Given the description of an element on the screen output the (x, y) to click on. 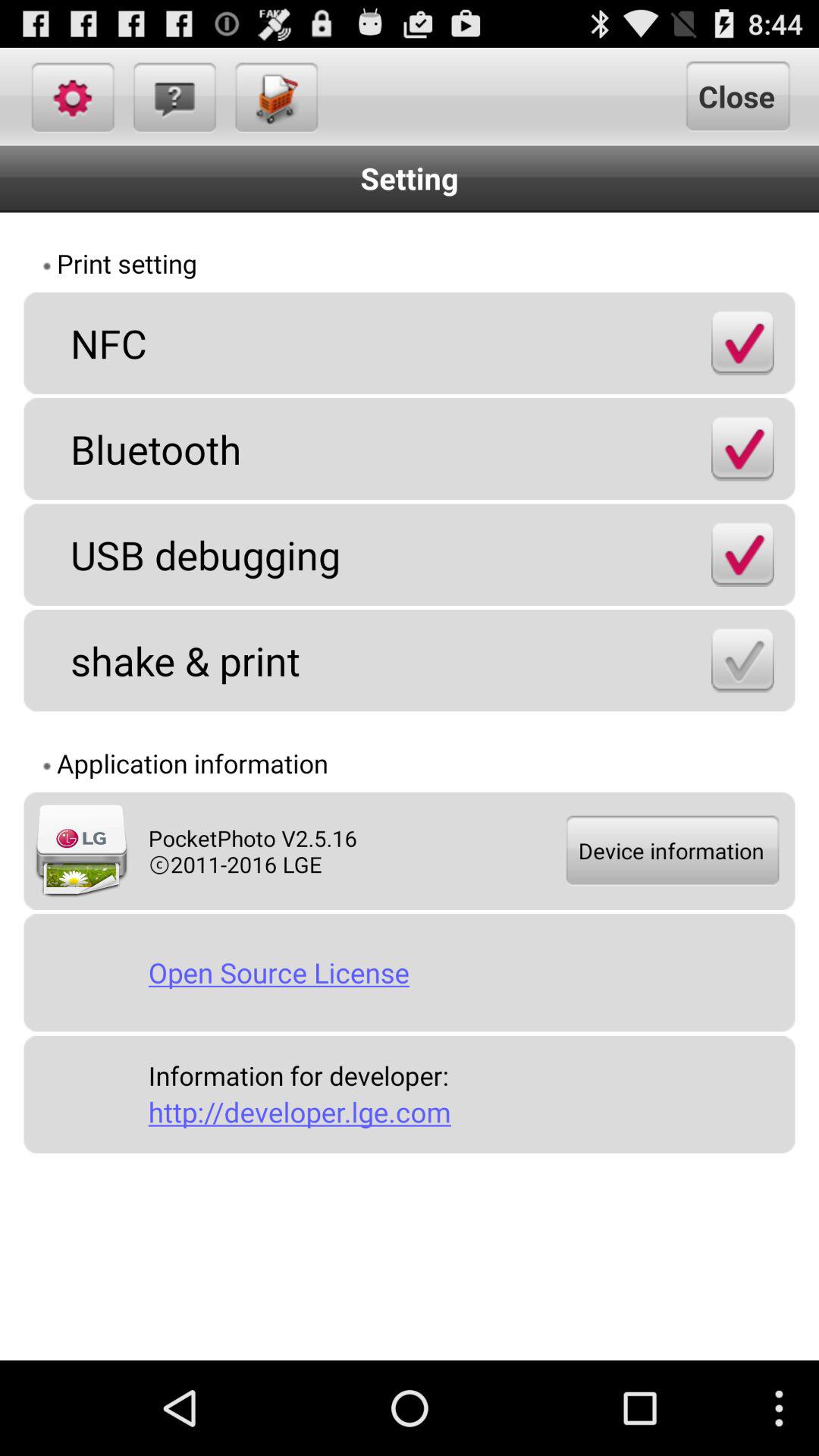
press item to the right of print setting app (695, 265)
